Given the description of an element on the screen output the (x, y) to click on. 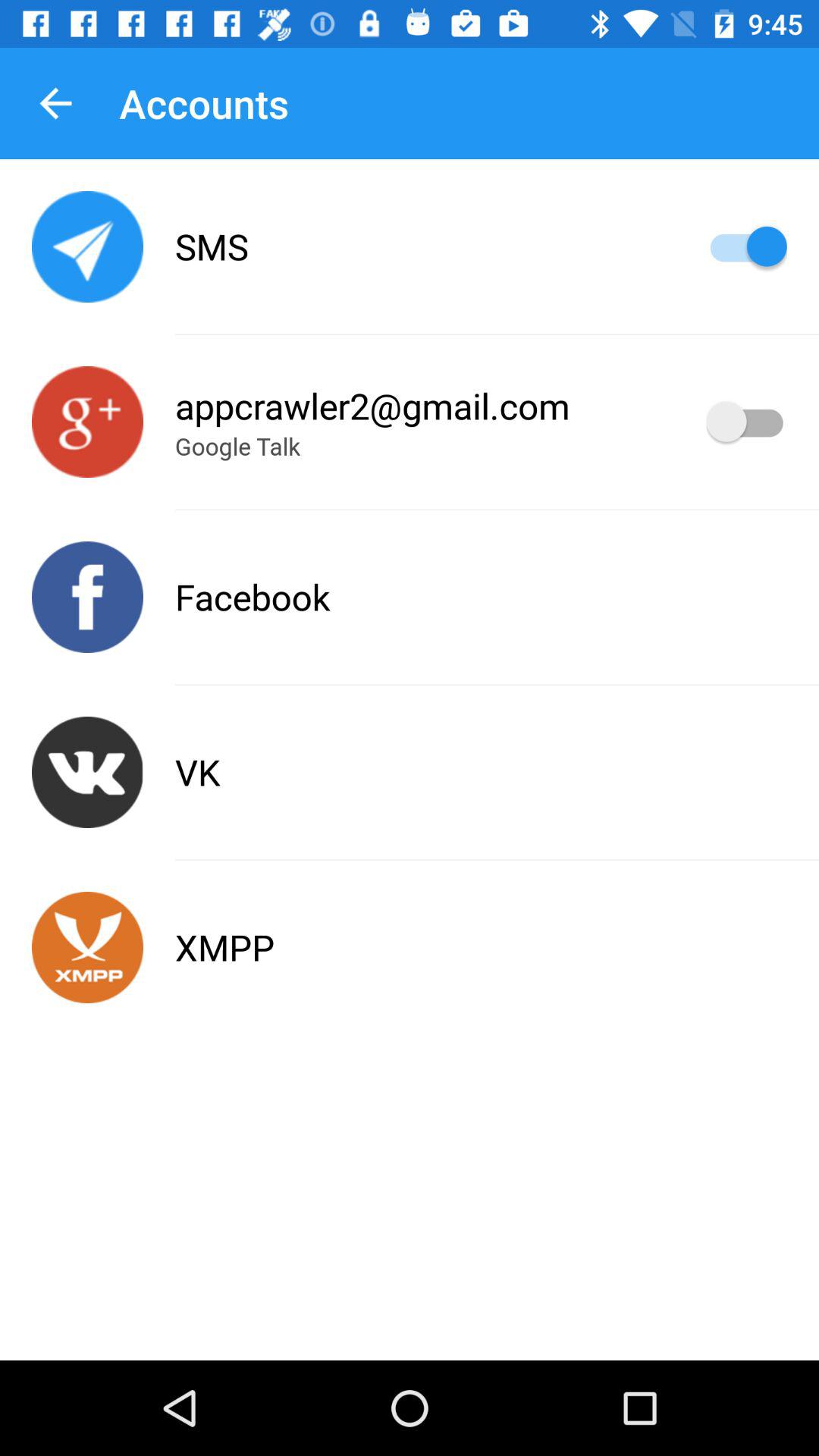
open facebook app (87, 596)
